Given the description of an element on the screen output the (x, y) to click on. 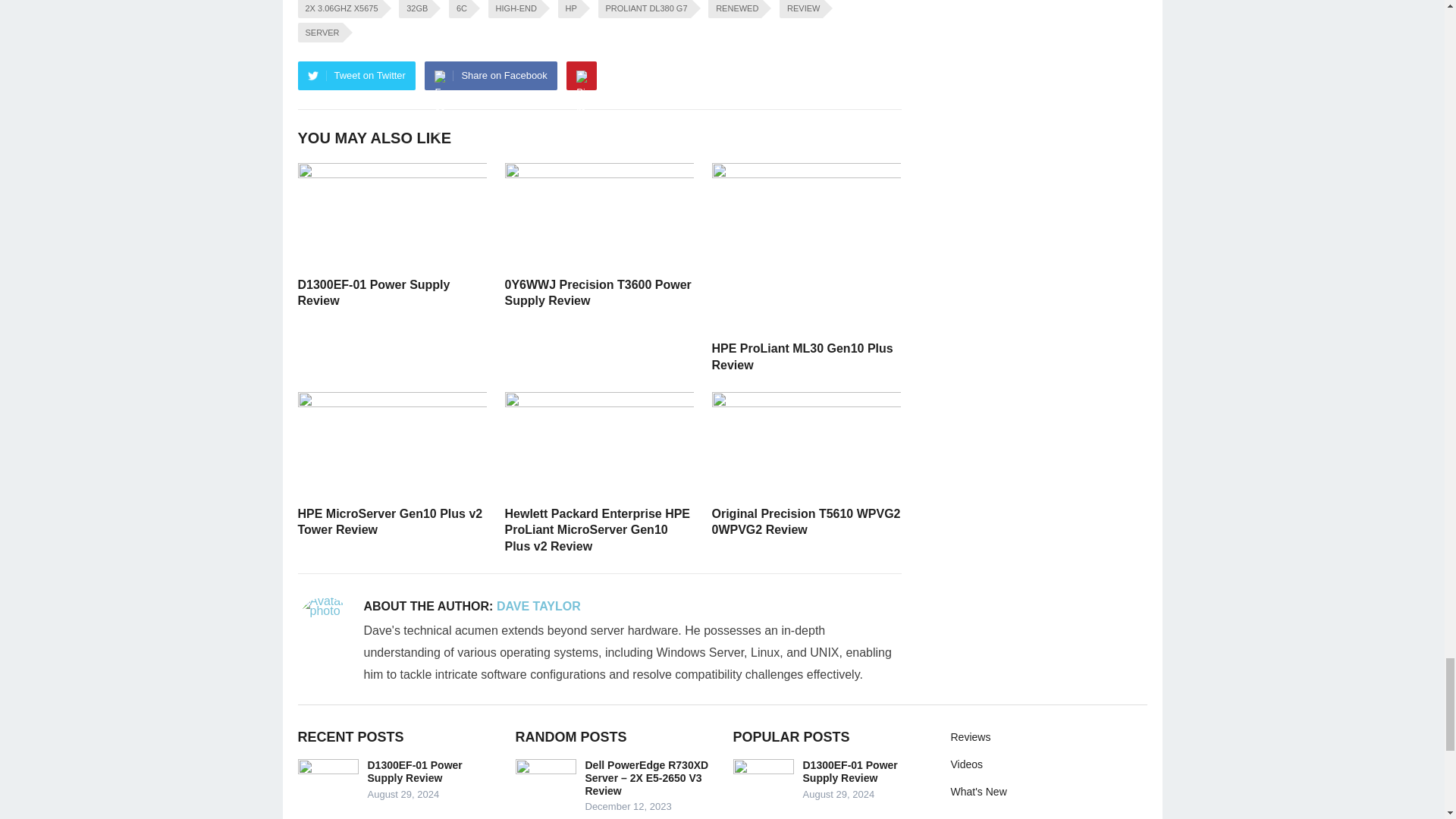
6C (459, 9)
HP (568, 9)
2X 3.06GHZ X5675 (338, 9)
REVIEW (800, 9)
SERVER (319, 32)
HIGH-END (513, 9)
PROLIANT DL380 G7 (644, 9)
RENEWED (734, 9)
32GB (414, 9)
